Given the description of an element on the screen output the (x, y) to click on. 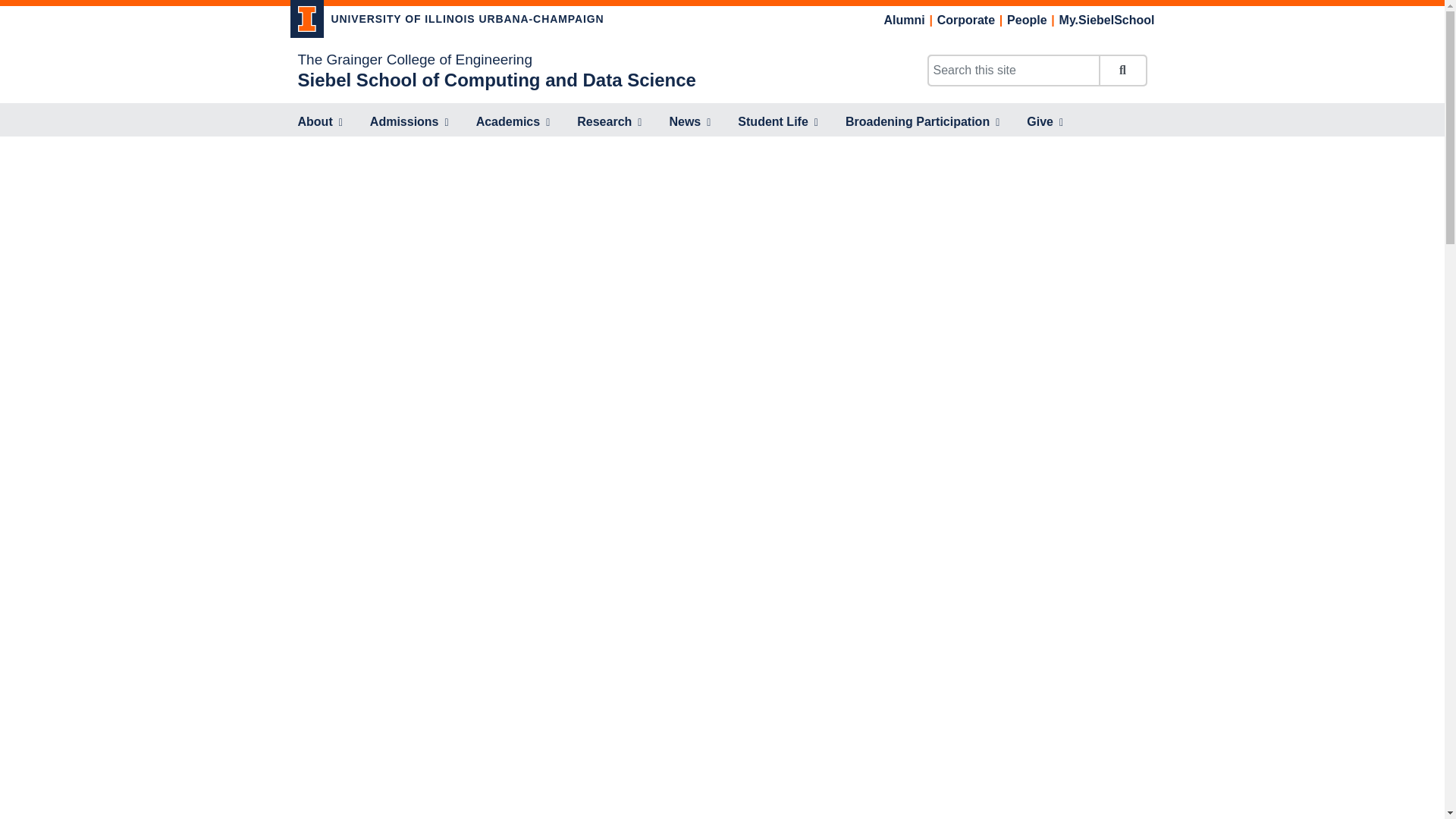
Corporate (965, 19)
About (319, 122)
My.SiebelSchool (1106, 19)
Siebel School of Computing and Data Science (496, 79)
UNIVERSITY OF ILLINOIS URBANA-CHAMPAIGN (446, 21)
The Grainger College of Engineering (414, 59)
Alumni (903, 19)
Search (1121, 70)
People (1026, 19)
